Given the description of an element on the screen output the (x, y) to click on. 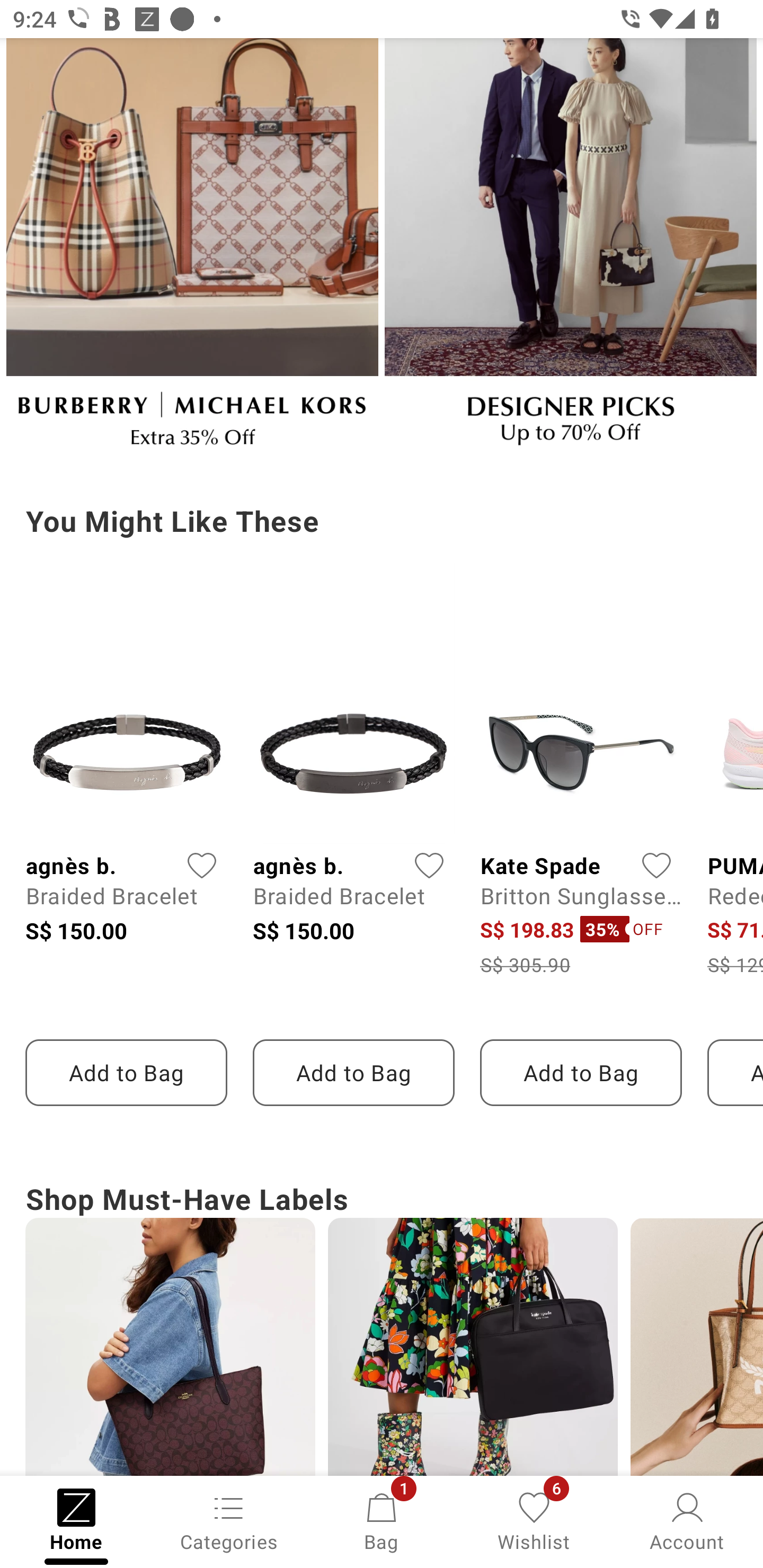
Campaign banner (192, 249)
Campaign banner (570, 249)
Add to Bag (126, 1072)
Add to Bag (353, 1072)
Add to Bag (580, 1072)
Campaign banner (170, 1346)
Campaign banner (473, 1346)
Categories (228, 1519)
Bag, 1 new notification Bag (381, 1519)
Wishlist, 6 new notifications Wishlist (533, 1519)
Account (686, 1519)
